Given the description of an element on the screen output the (x, y) to click on. 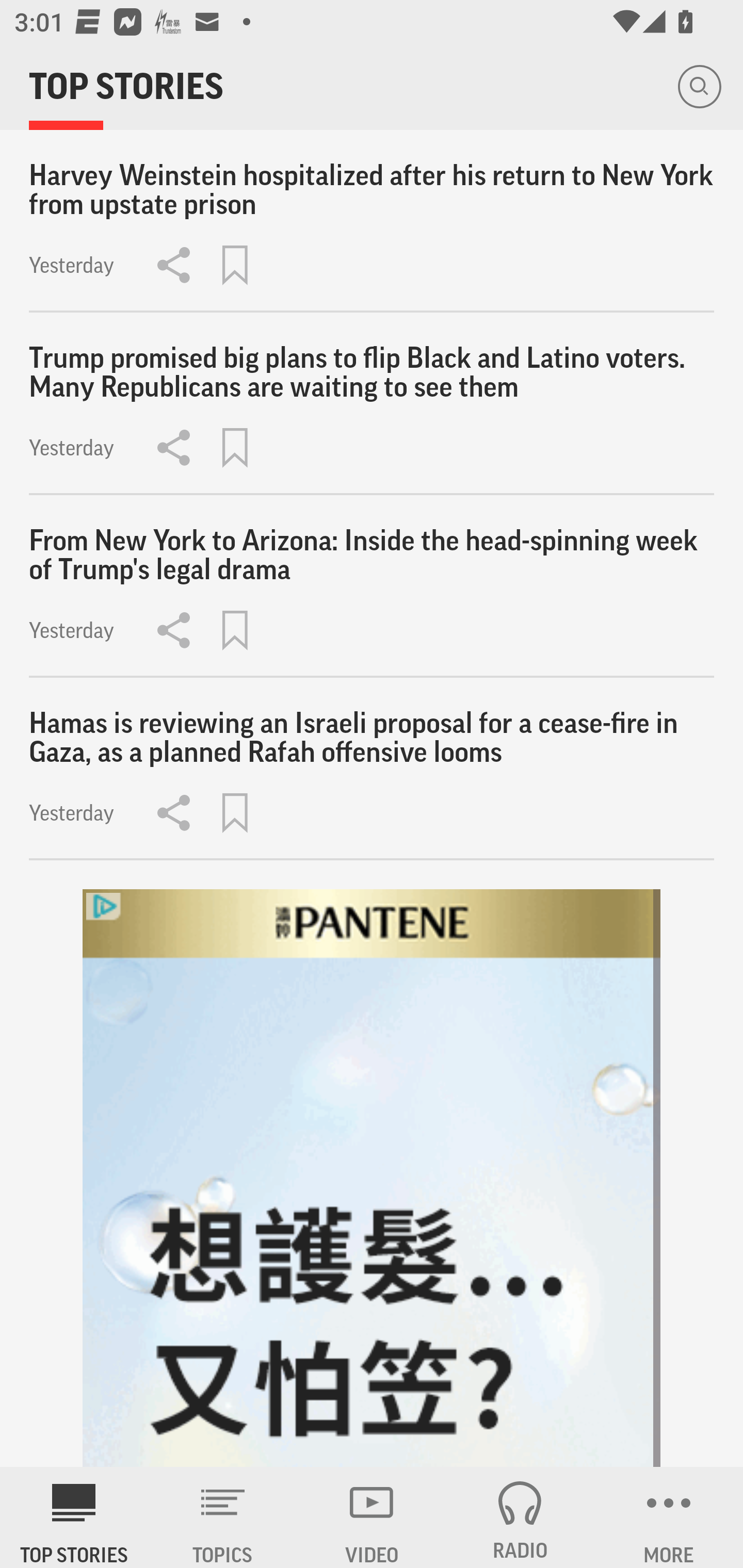
AP News TOP STORIES (74, 1517)
TOPICS (222, 1517)
VIDEO (371, 1517)
RADIO (519, 1517)
MORE (668, 1517)
